Given the description of an element on the screen output the (x, y) to click on. 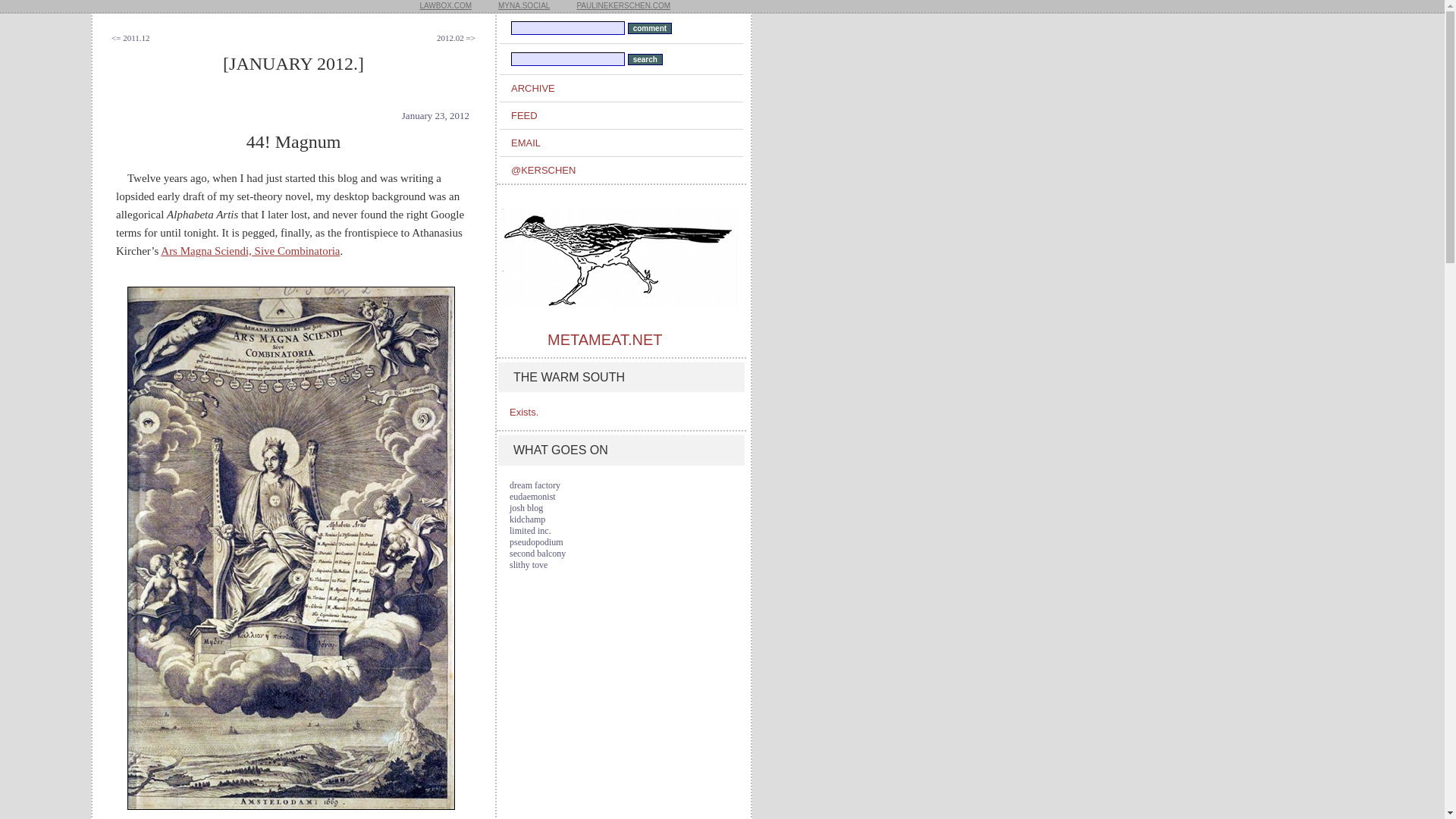
second balcony (537, 552)
ARCHIVE (626, 88)
limited inc. (530, 530)
MYNA.SOCIAL (524, 6)
pseudopodium (536, 542)
josh blog (526, 507)
Ars Magna Sciendi, Sive Combinatoria (249, 250)
PAULINEKERSCHEN.COM (623, 6)
search (644, 59)
dream factory (534, 484)
